Given the description of an element on the screen output the (x, y) to click on. 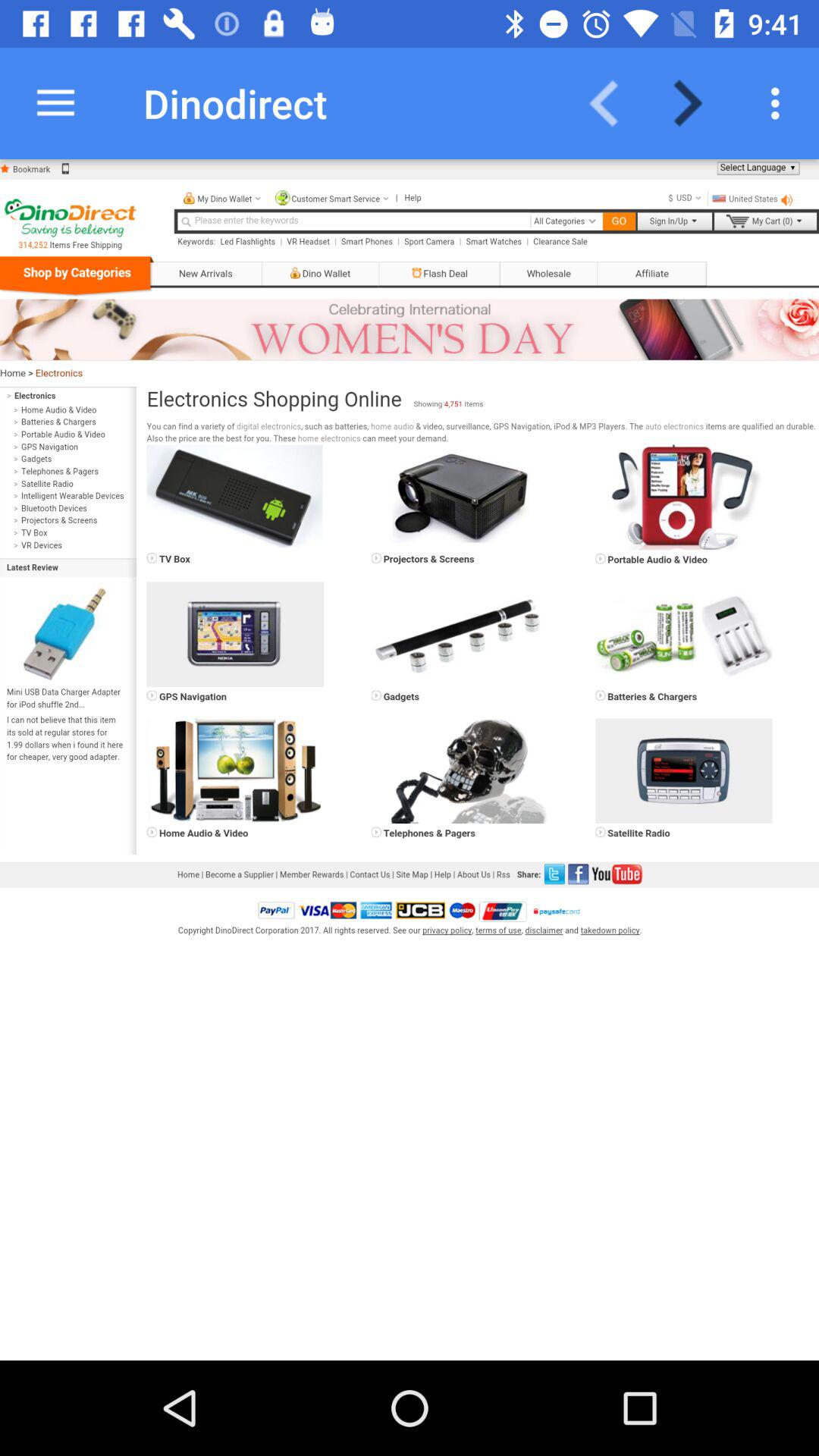
go forward (697, 103)
